Given the description of an element on the screen output the (x, y) to click on. 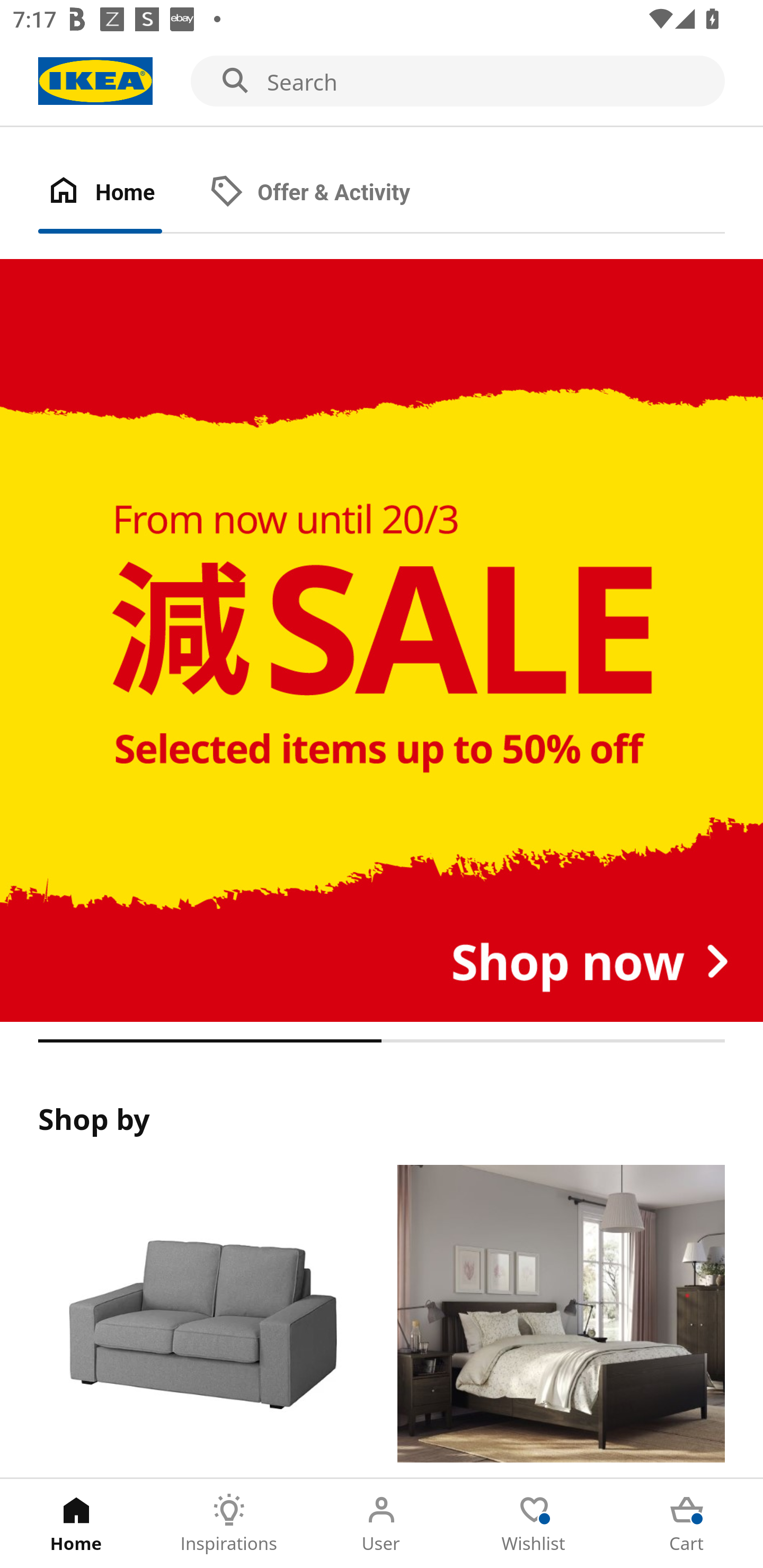
Search (381, 81)
Home
Tab 1 of 2 (118, 192)
Offer & Activity
Tab 2 of 2 (327, 192)
Products (201, 1321)
Rooms (560, 1321)
Home
Tab 1 of 5 (76, 1522)
Inspirations
Tab 2 of 5 (228, 1522)
User
Tab 3 of 5 (381, 1522)
Wishlist
Tab 4 of 5 (533, 1522)
Cart
Tab 5 of 5 (686, 1522)
